Given the description of an element on the screen output the (x, y) to click on. 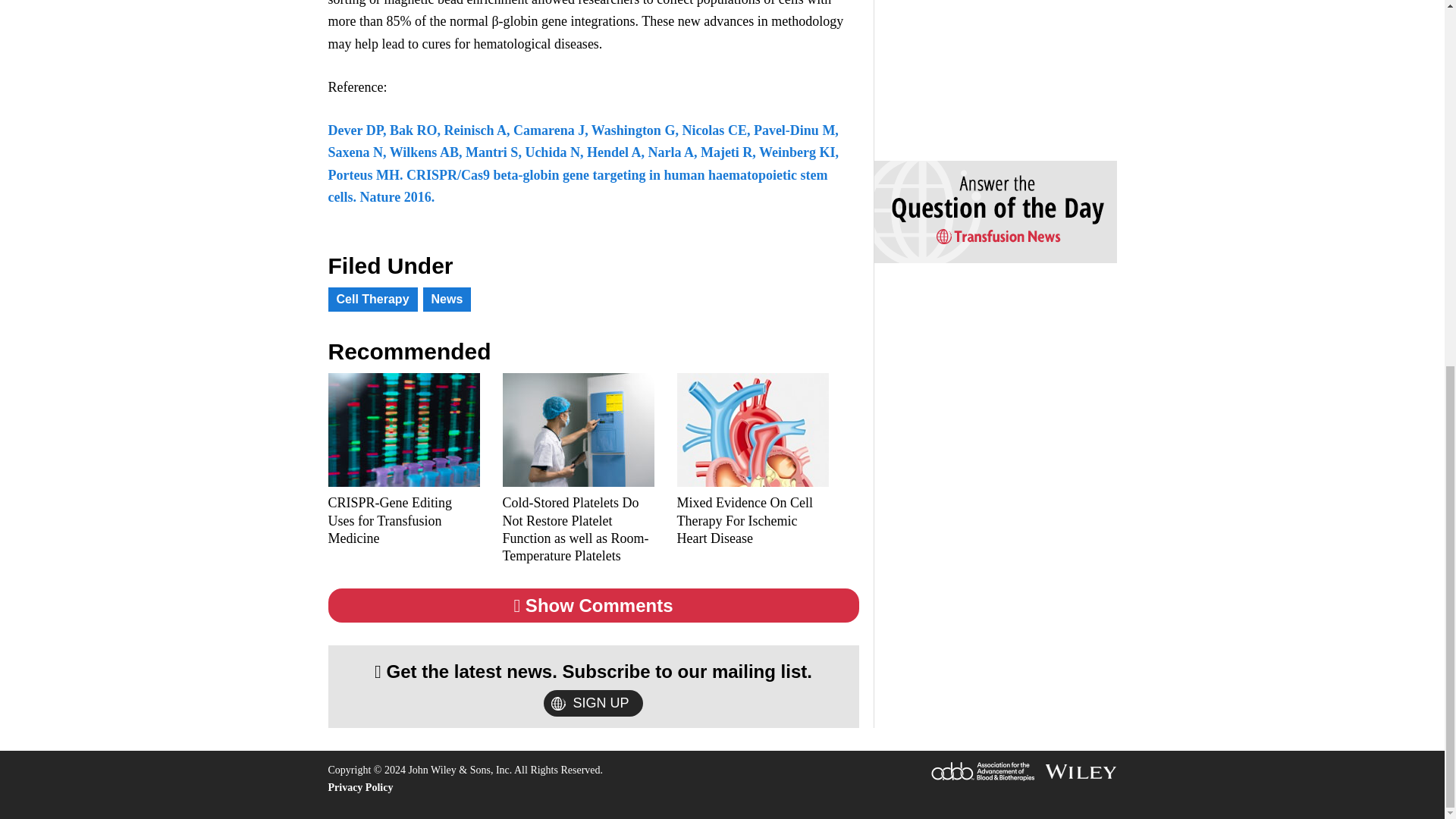
News (447, 281)
Get the latest news. Subscribe to our mailing list. SIGN UP (593, 685)
FDA Update about Bacterial Contamination of Platelets (577, 502)
Cell Therapy (371, 281)
